Given the description of an element on the screen output the (x, y) to click on. 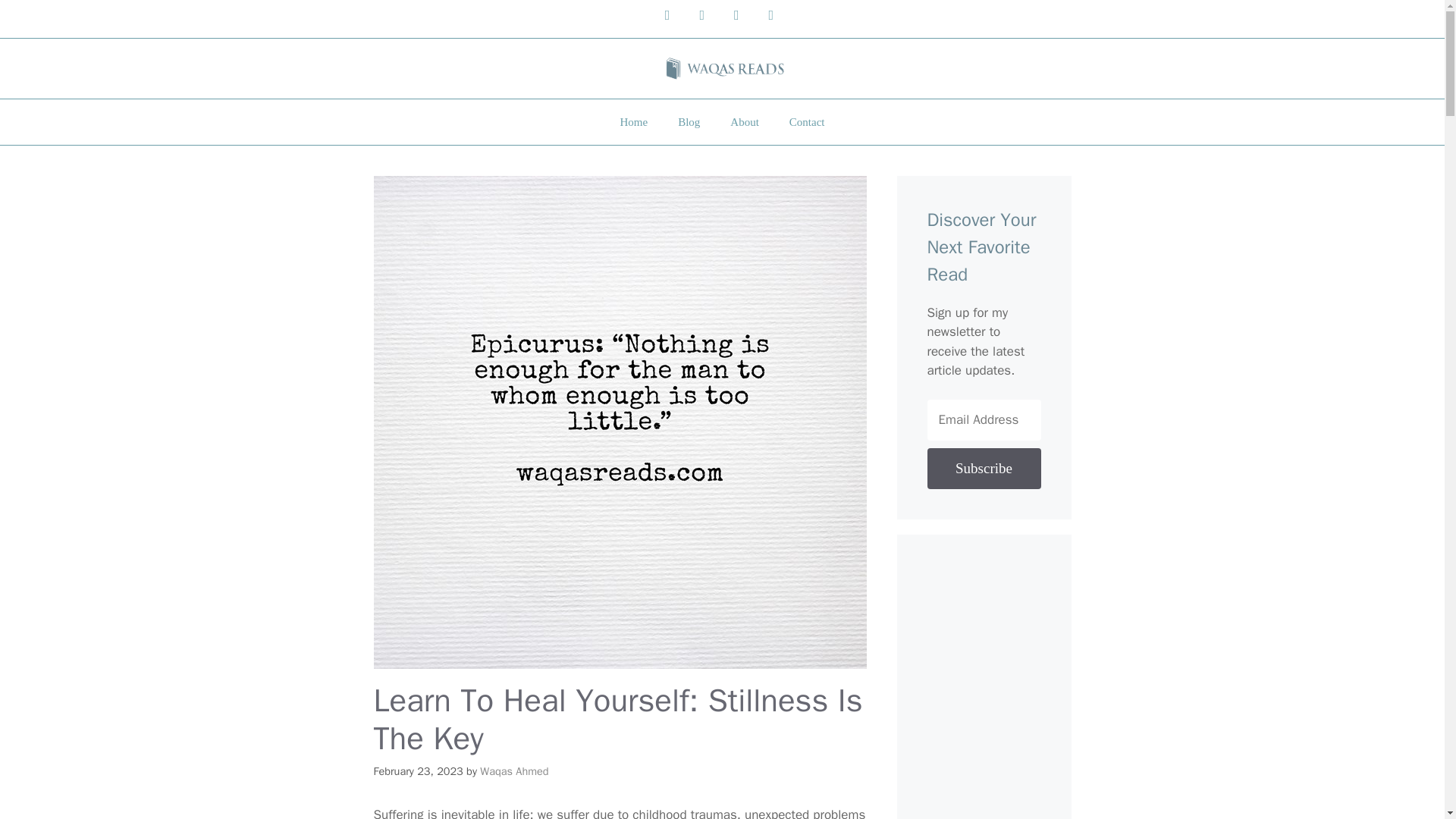
Waqas Ahmed (514, 771)
Pinterest (771, 15)
Subscribe (983, 467)
View all posts by Waqas Ahmed (514, 771)
Subscribe (983, 467)
About (744, 121)
Twitter (736, 15)
Blog (688, 121)
YouTube (666, 15)
Instagram (701, 15)
Contact (807, 121)
Home (633, 121)
